Given the description of an element on the screen output the (x, y) to click on. 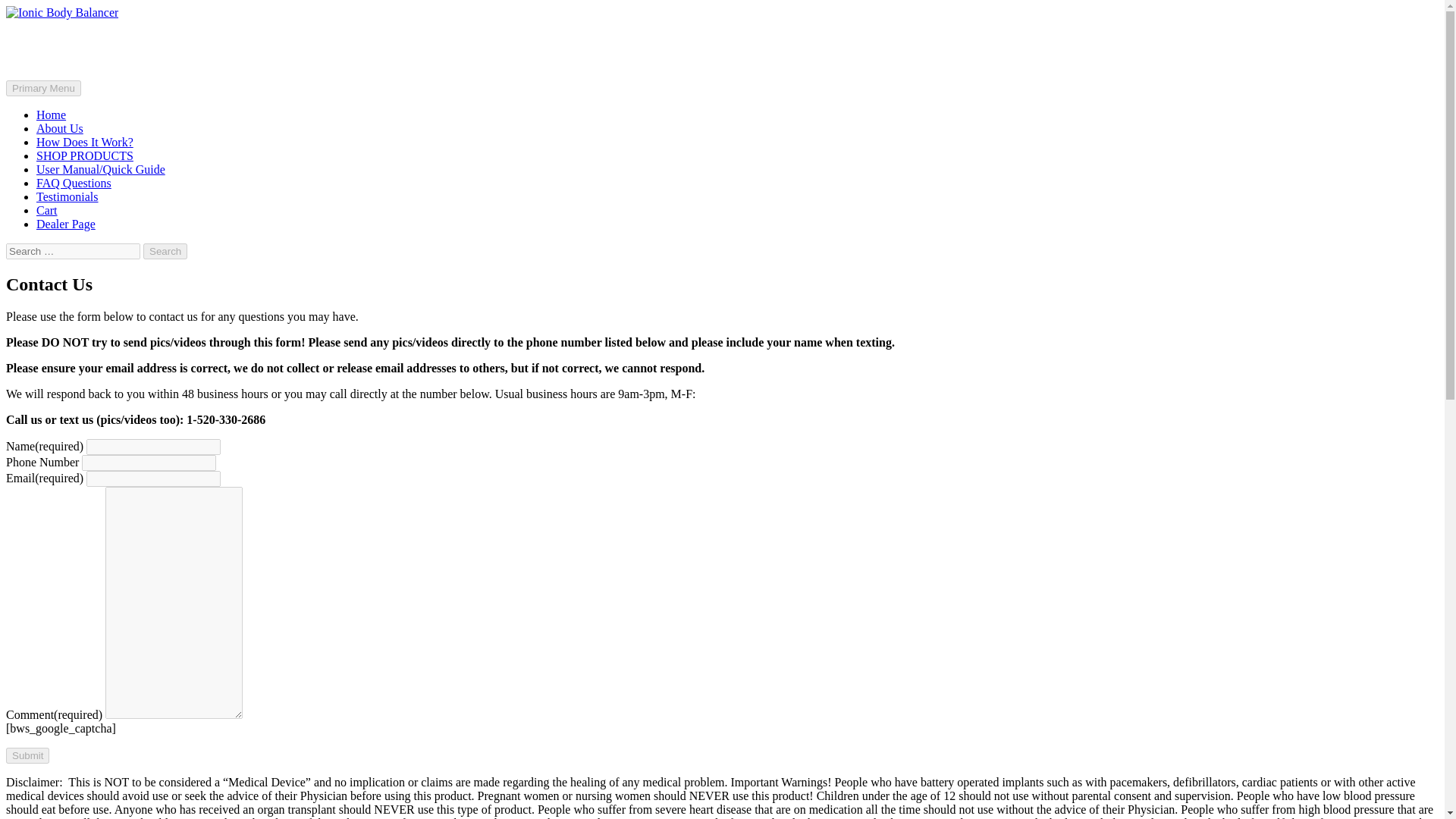
Dealer Page (66, 223)
Testimonials (67, 196)
Submit (27, 755)
Search (164, 251)
Primary Menu (43, 88)
About Us (59, 128)
Search (164, 251)
SHOP PRODUCTS (84, 155)
Search (164, 251)
